Given the description of an element on the screen output the (x, y) to click on. 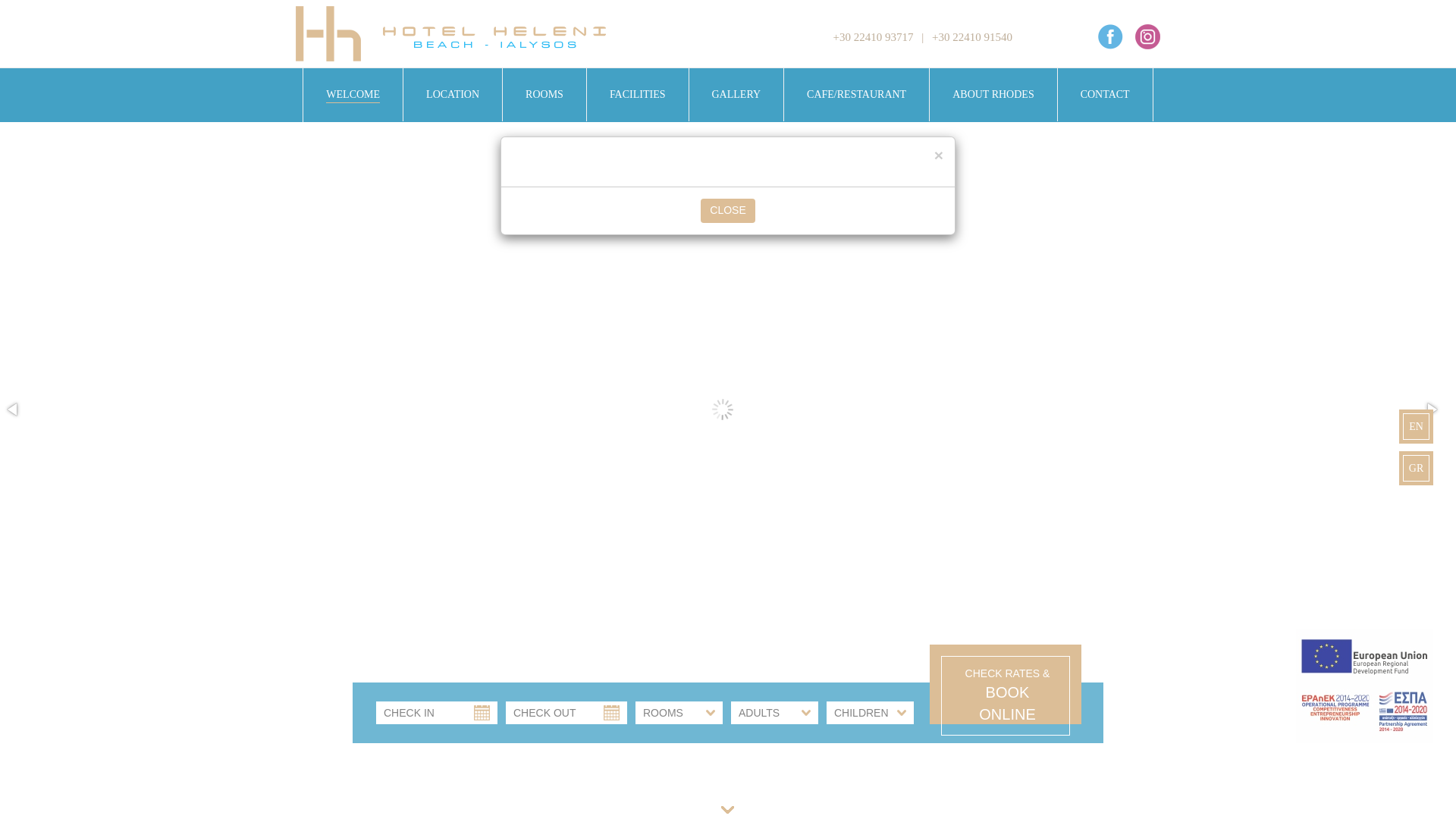
ROOMS (544, 94)
EN (1415, 426)
CLOSE (727, 210)
LOCATION (452, 94)
ABOUT RHODES (992, 94)
WELCOME (353, 94)
GALLERY (735, 94)
GR (1415, 468)
CONTACT (1104, 94)
FACILITIES (637, 94)
